Given the description of an element on the screen output the (x, y) to click on. 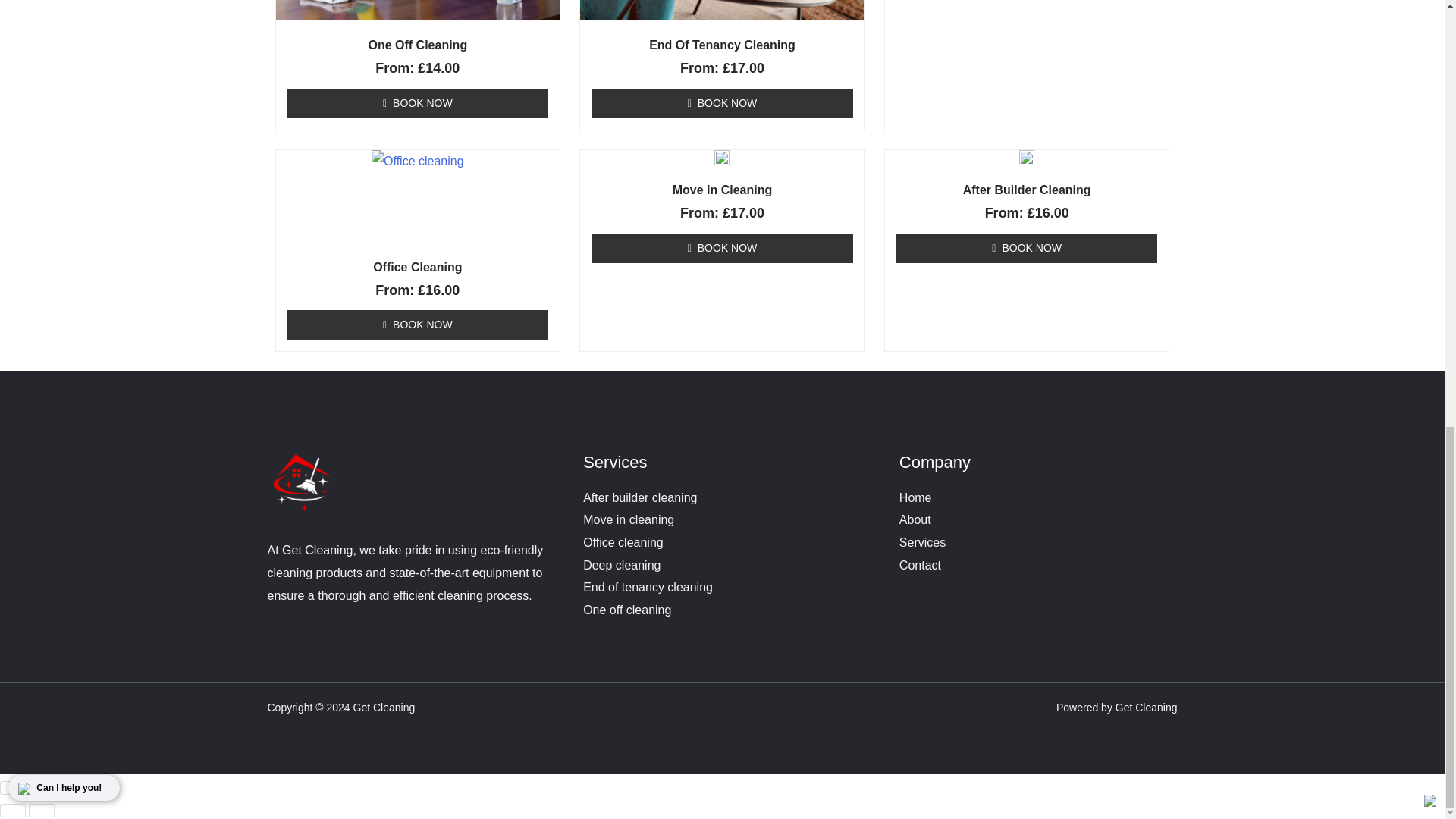
Office cleaning (623, 586)
About (915, 564)
Home (915, 542)
Deep cleaning (622, 609)
Move in cleaning (628, 564)
BOOK NOW (722, 369)
One off cleaning (627, 654)
After Builder Cleaning (1027, 312)
After builder cleaning (640, 542)
Move In Cleaning (721, 312)
End of tenancy cleaning (648, 632)
BOOK NOW (417, 369)
BOOK NOW (1026, 369)
Office Cleaning (418, 312)
